Given the description of an element on the screen output the (x, y) to click on. 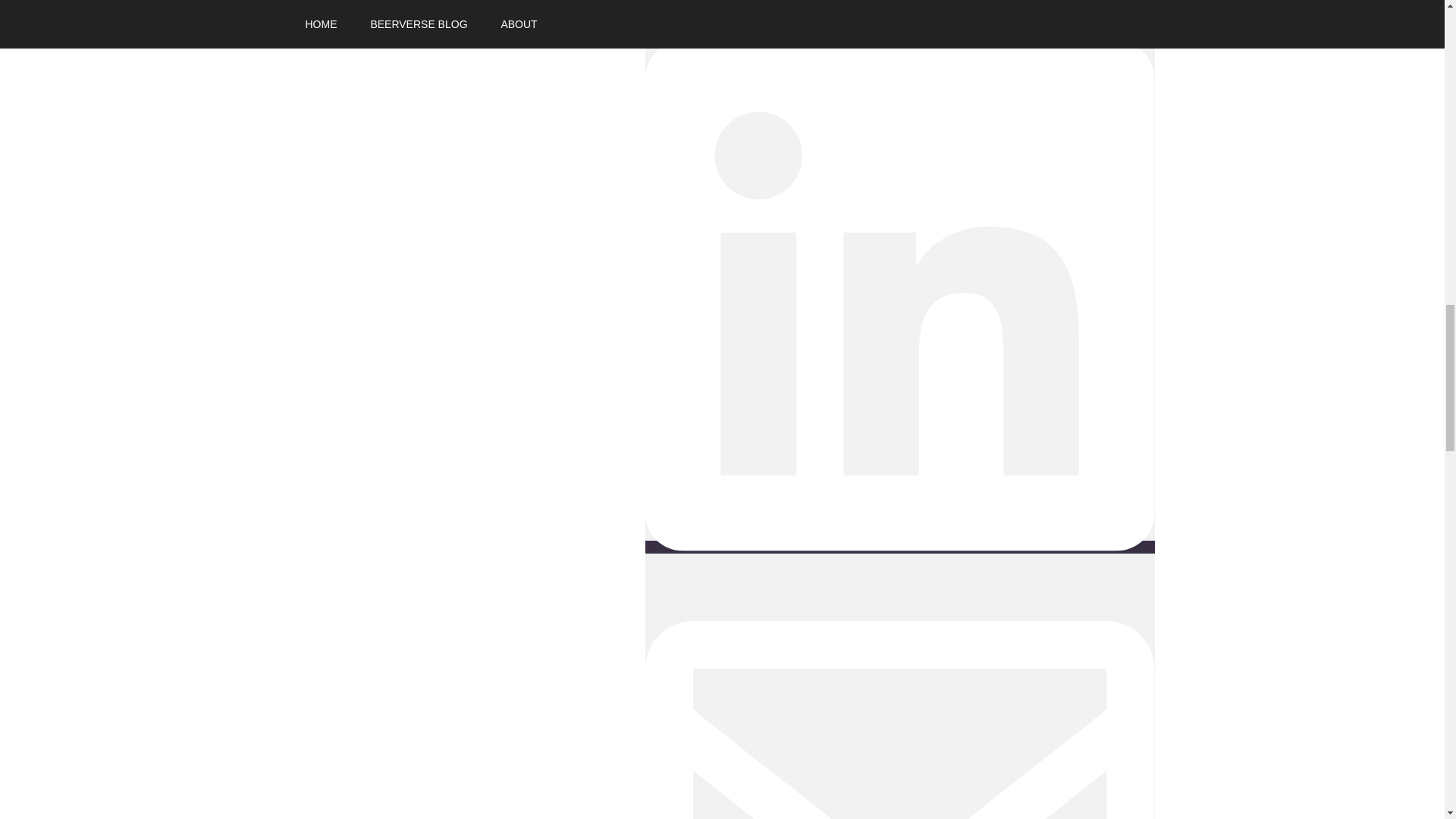
Email (899, 688)
